Given the description of an element on the screen output the (x, y) to click on. 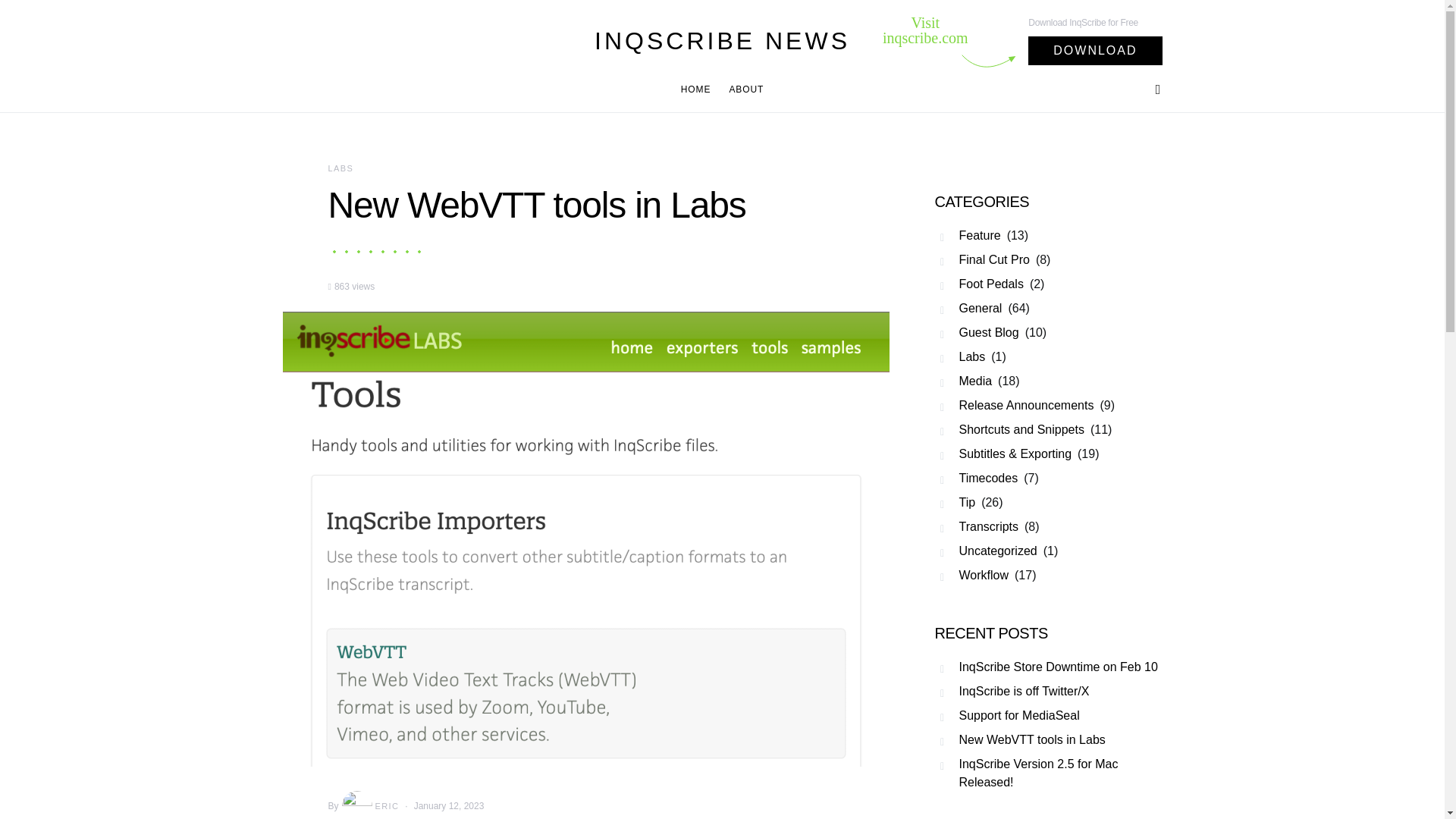
Shortcuts and Snippets (1011, 429)
ERIC (368, 805)
Release Announcements (1016, 405)
General (970, 308)
Guest Blog (979, 332)
LABS (340, 167)
Feature (970, 235)
DOWNLOAD (1094, 50)
Transcripts (979, 526)
Labs (962, 356)
Media (965, 381)
View all posts by eric (368, 805)
Announcements of software version releases. (1016, 405)
Final Cut Pro (984, 259)
ABOUT (740, 89)
